Given the description of an element on the screen output the (x, y) to click on. 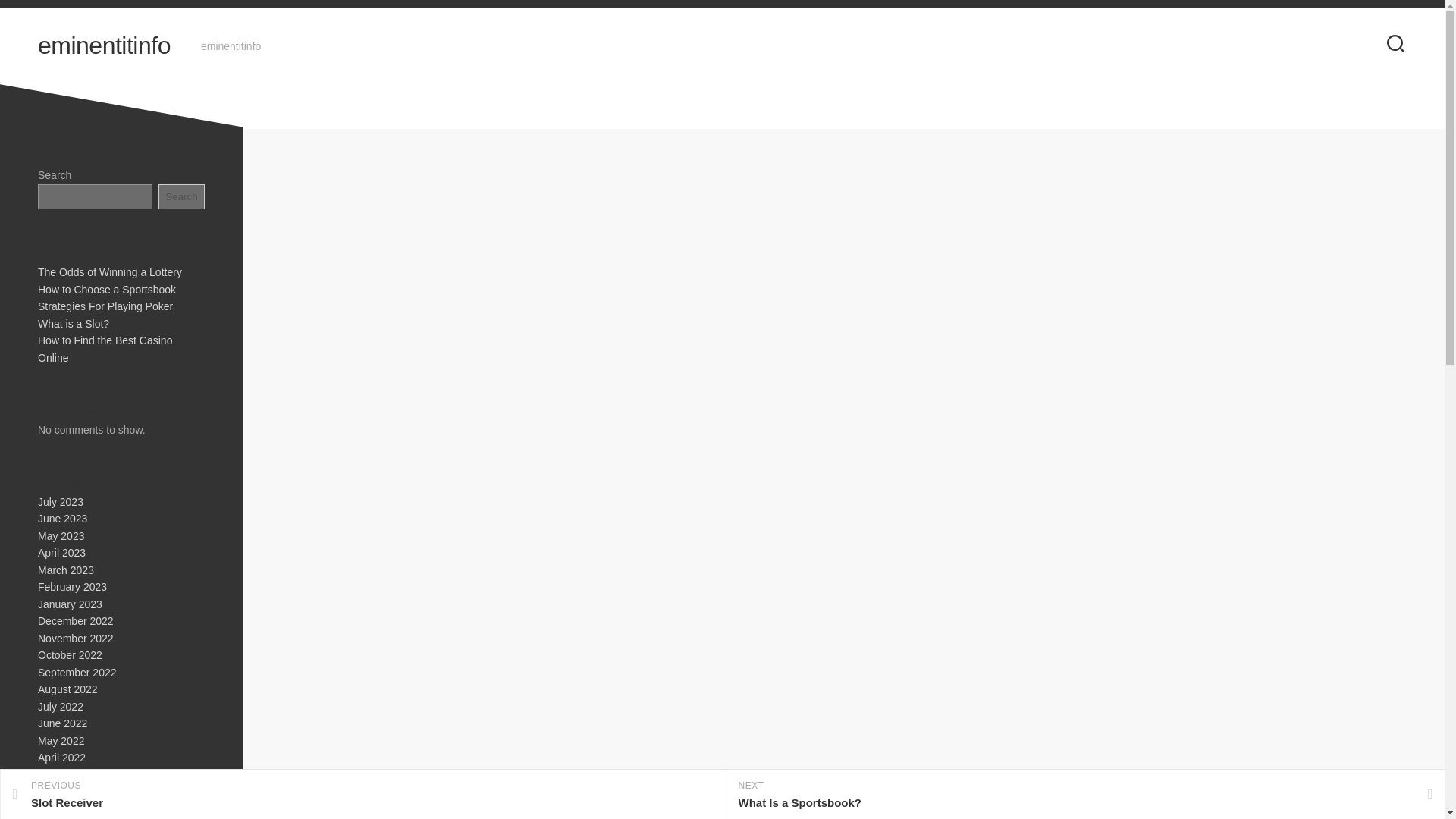
Search (181, 195)
July 2023 (59, 501)
June 2022 (62, 723)
April 2023 (61, 552)
Strategies For Playing Poker (105, 306)
February 2023 (71, 586)
July 2022 (59, 706)
Posts by adminss (742, 232)
April 2022 (61, 757)
June 2023 (62, 518)
eminentitinfo (103, 44)
May 2022 (60, 739)
August 2022 (67, 689)
November 2022 (75, 638)
October 2022 (69, 654)
